Given the description of an element on the screen output the (x, y) to click on. 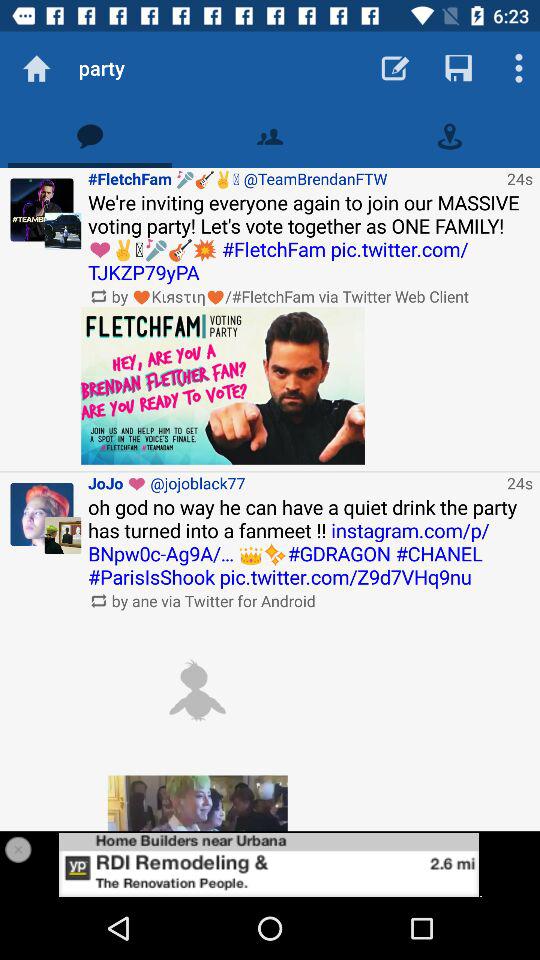
change location (450, 136)
